Given the description of an element on the screen output the (x, y) to click on. 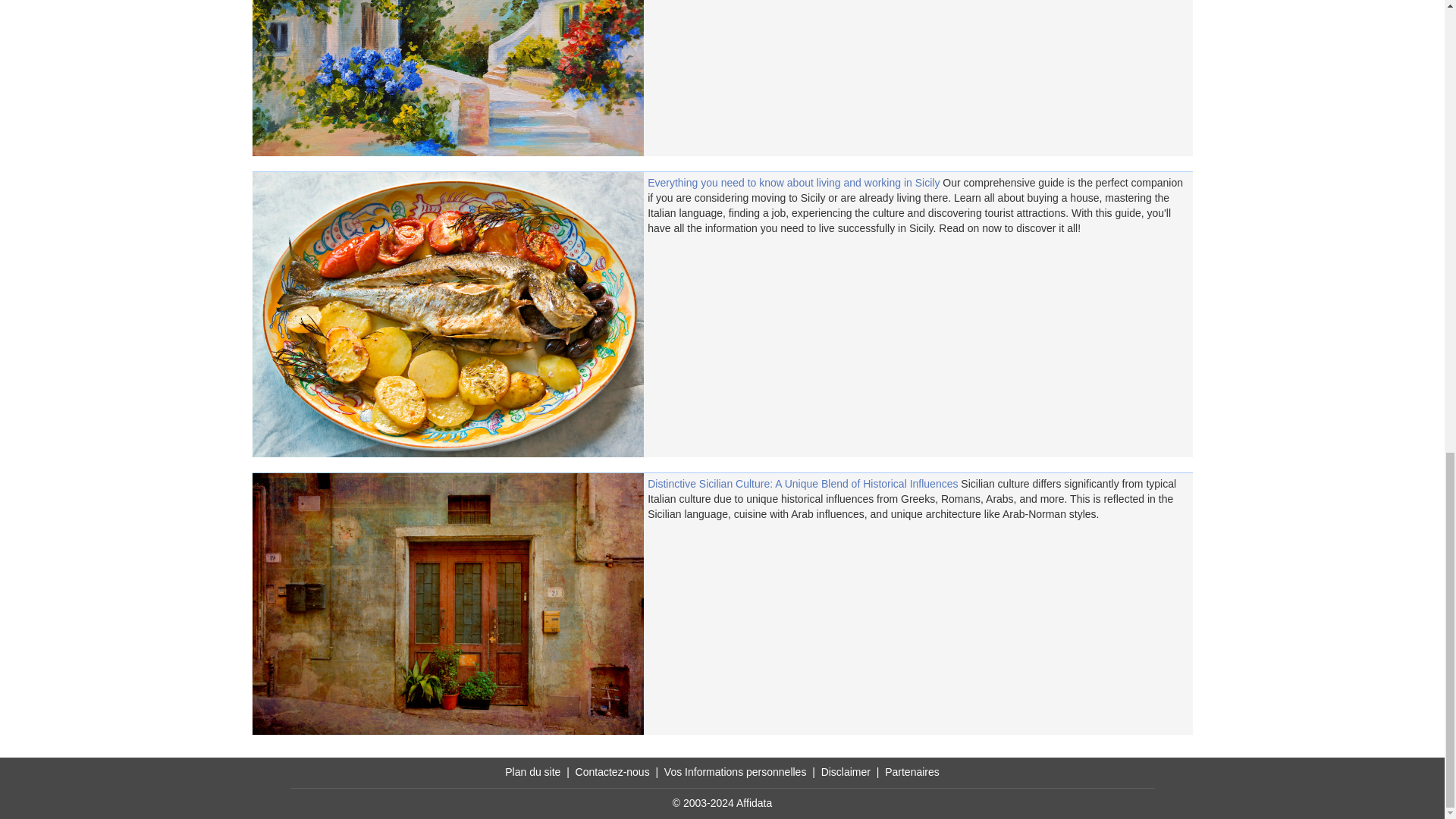
Vos Informations personnelles (734, 771)
Plan du site (532, 771)
Contactez-nous (612, 771)
Disclaimer (845, 771)
Partenaires (912, 771)
